Given the description of an element on the screen output the (x, y) to click on. 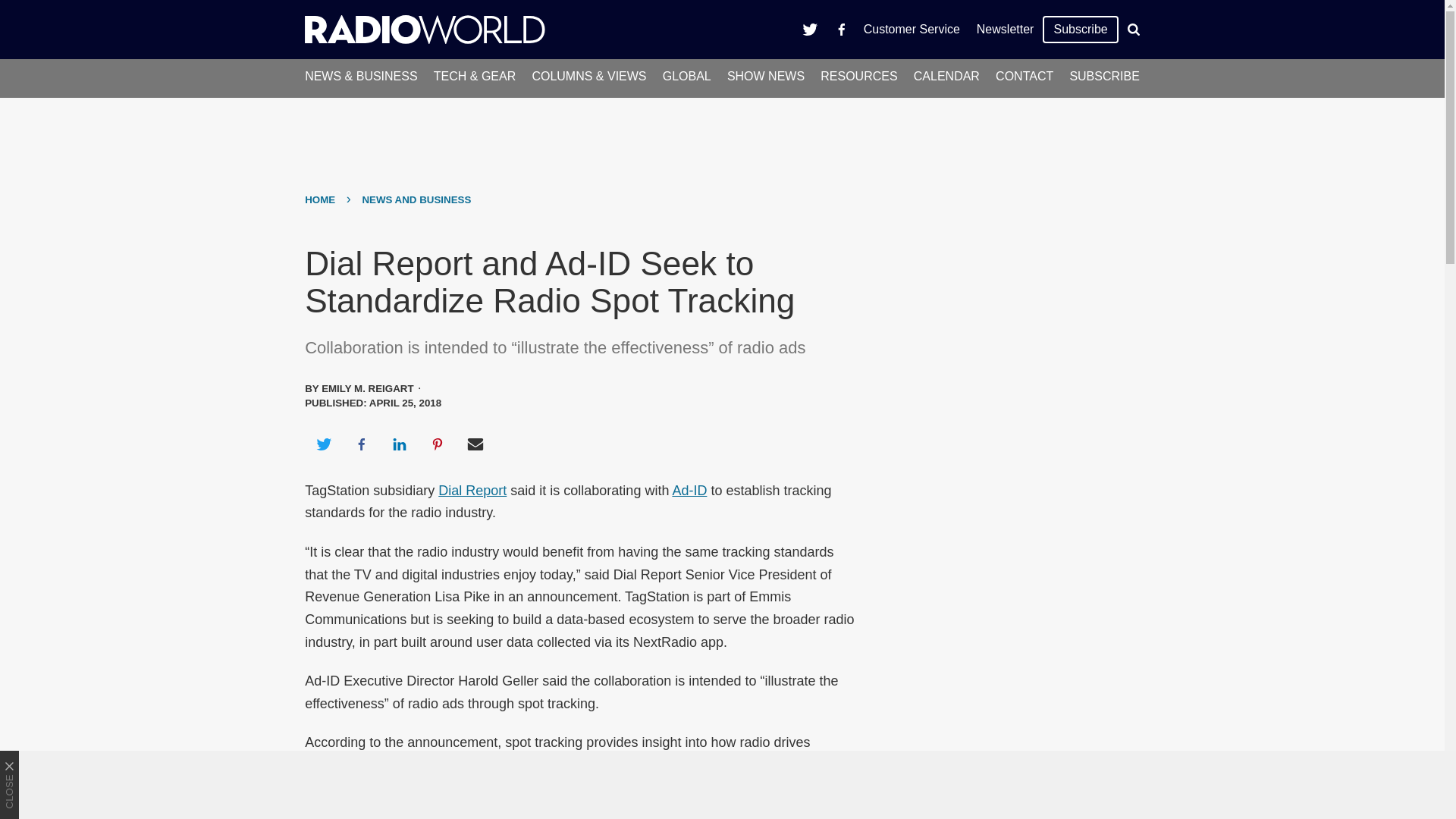
Share on Pinterest (438, 444)
Share on LinkedIn (399, 444)
Share on Facebook (361, 444)
Share via Email (476, 444)
Share on Twitter (323, 444)
Customer Service (912, 29)
